Given the description of an element on the screen output the (x, y) to click on. 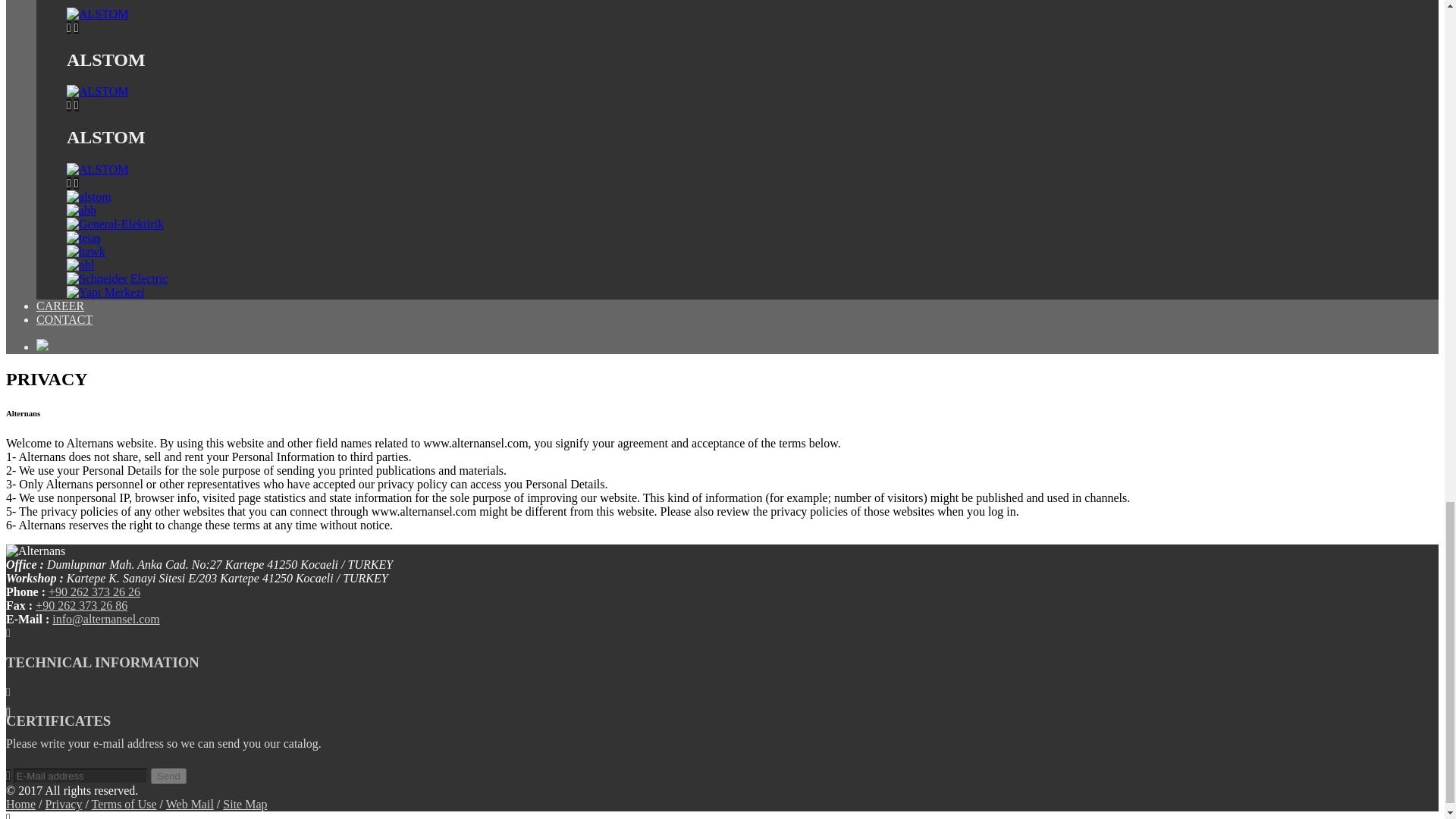
ALSTOM (97, 169)
ALSTOM (97, 91)
ALSTOM (97, 14)
